Given the description of an element on the screen output the (x, y) to click on. 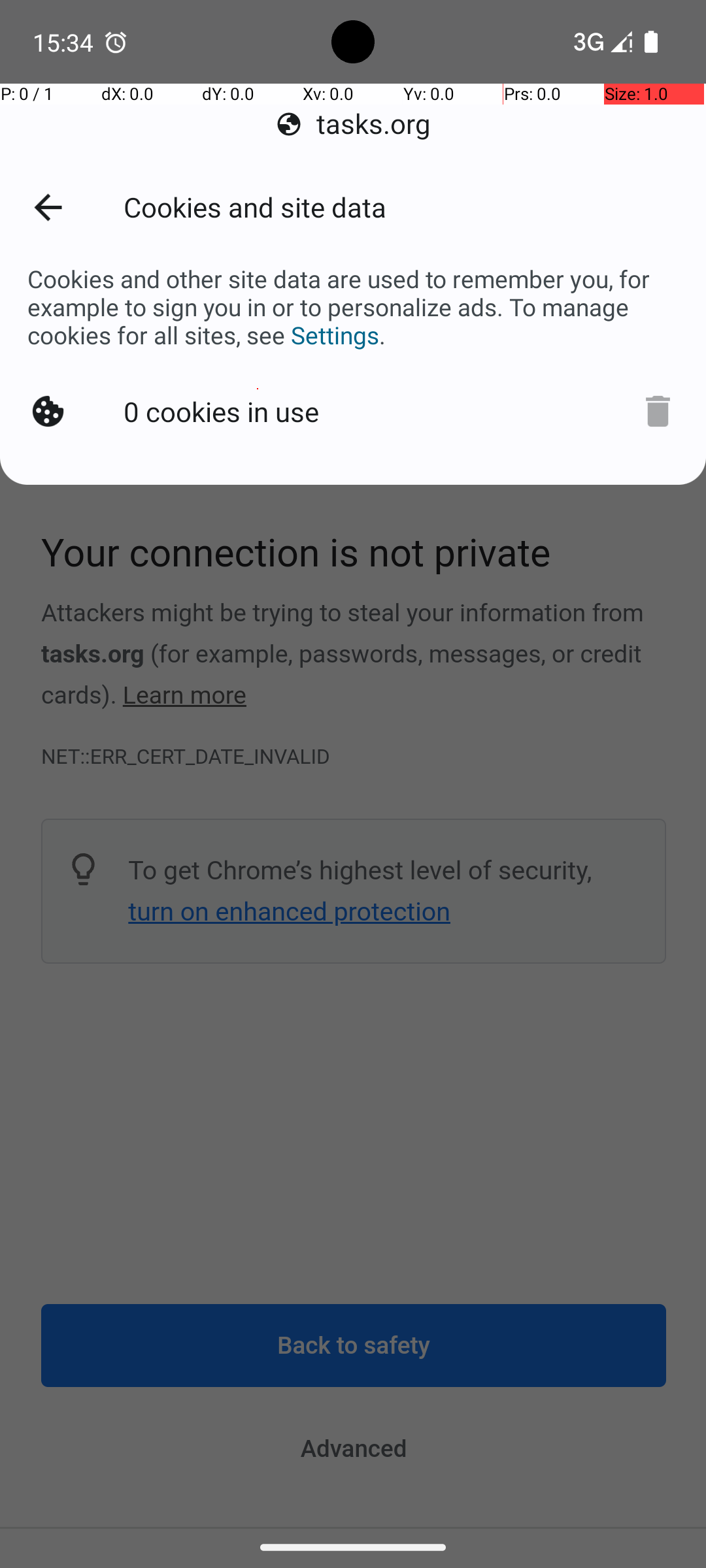
tasks.org Element type: android.widget.TextView (352, 124)
Cookies and other site data are used to remember you, for example to sign you in or to personalize ads. To manage cookies for all sites, see Settings. Element type: android.widget.TextView (352, 306)
0 cookies in use Element type: android.widget.TextView (223, 409)
Delete cookies? Element type: android.widget.ImageView (652, 409)
